Given the description of an element on the screen output the (x, y) to click on. 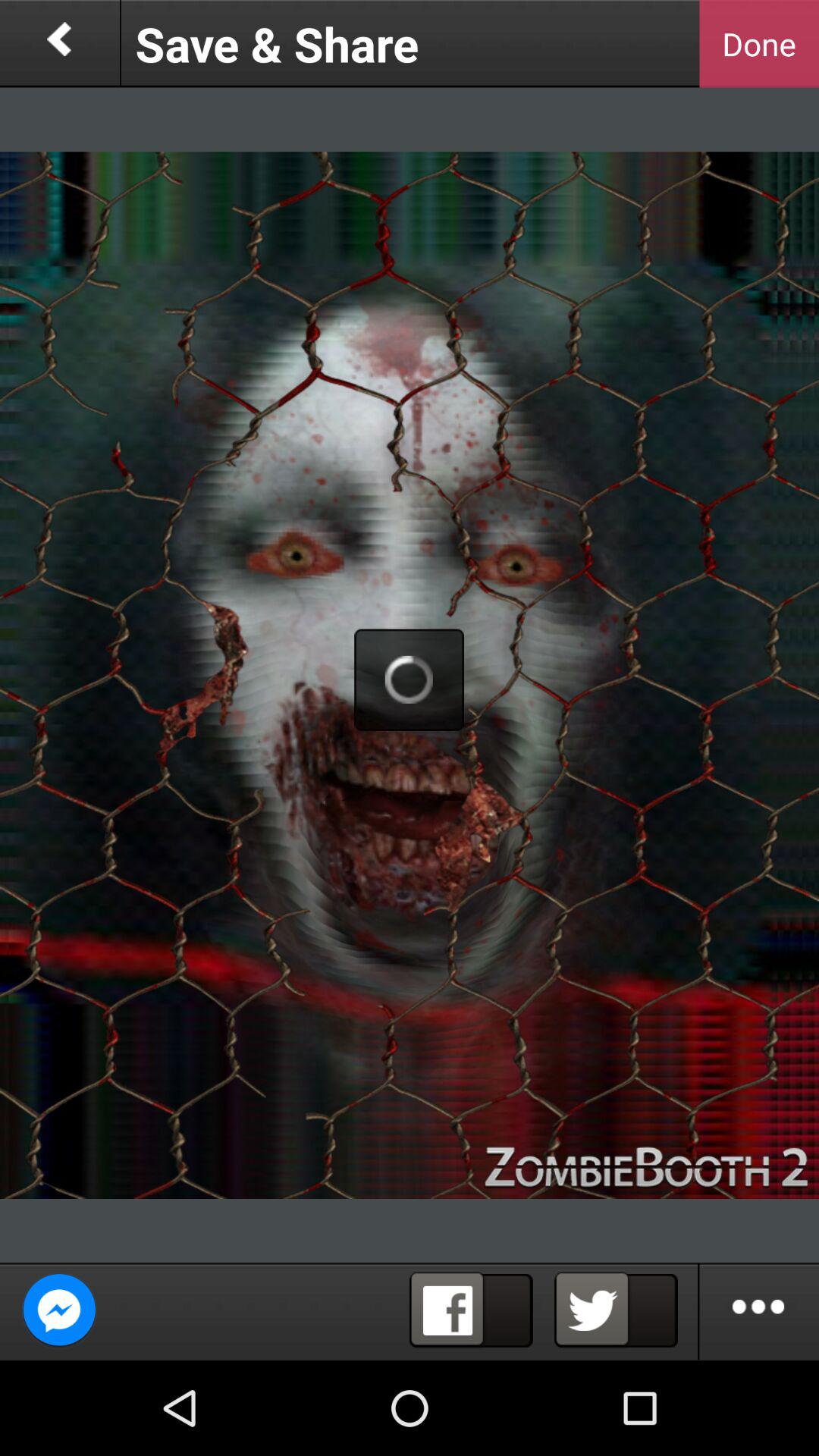
click to tweet (615, 1310)
